Given the description of an element on the screen output the (x, y) to click on. 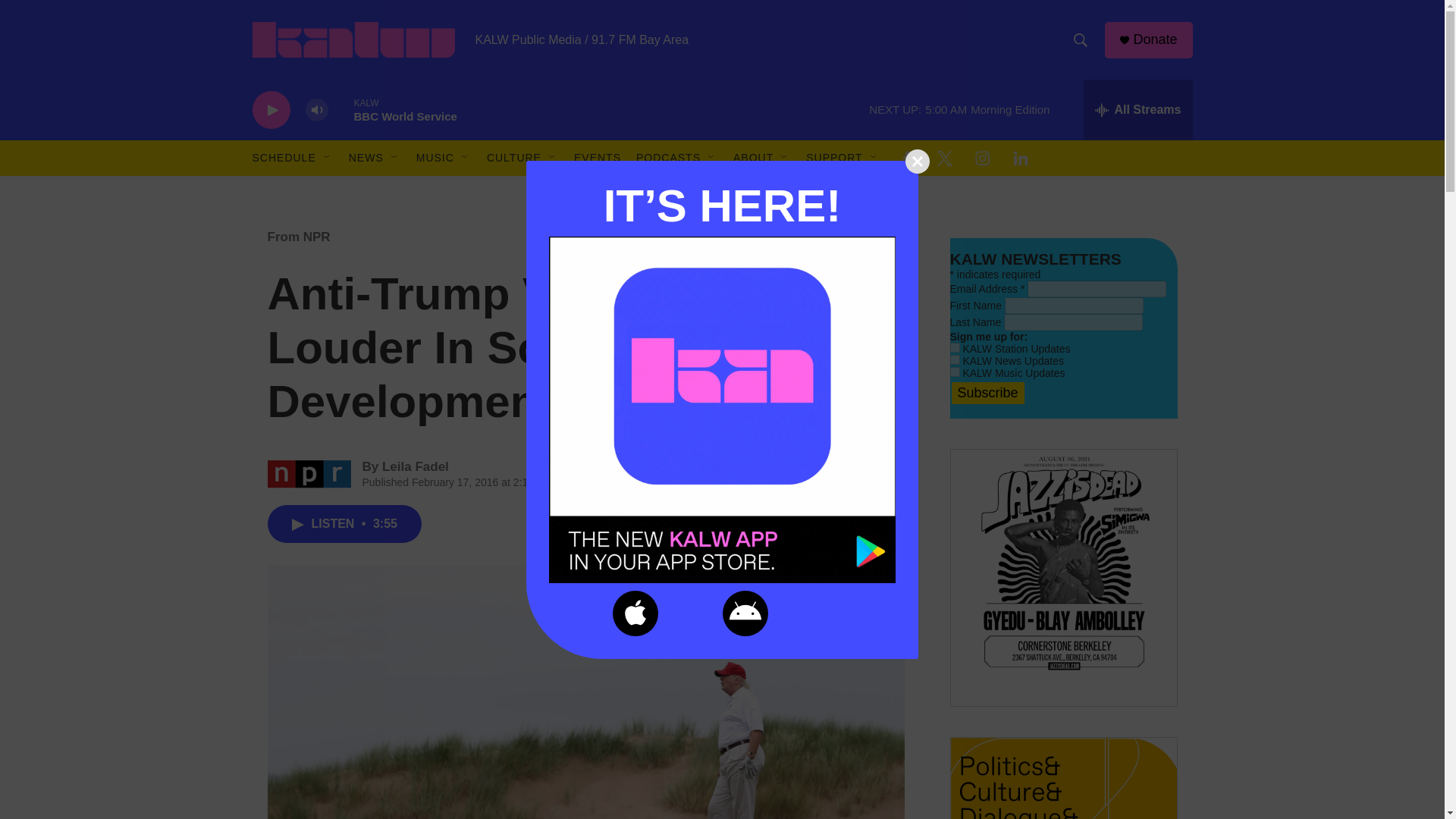
Subscribe (986, 393)
4 (954, 371)
2 (954, 347)
Close (917, 160)
1 (954, 359)
